Given the description of an element on the screen output the (x, y) to click on. 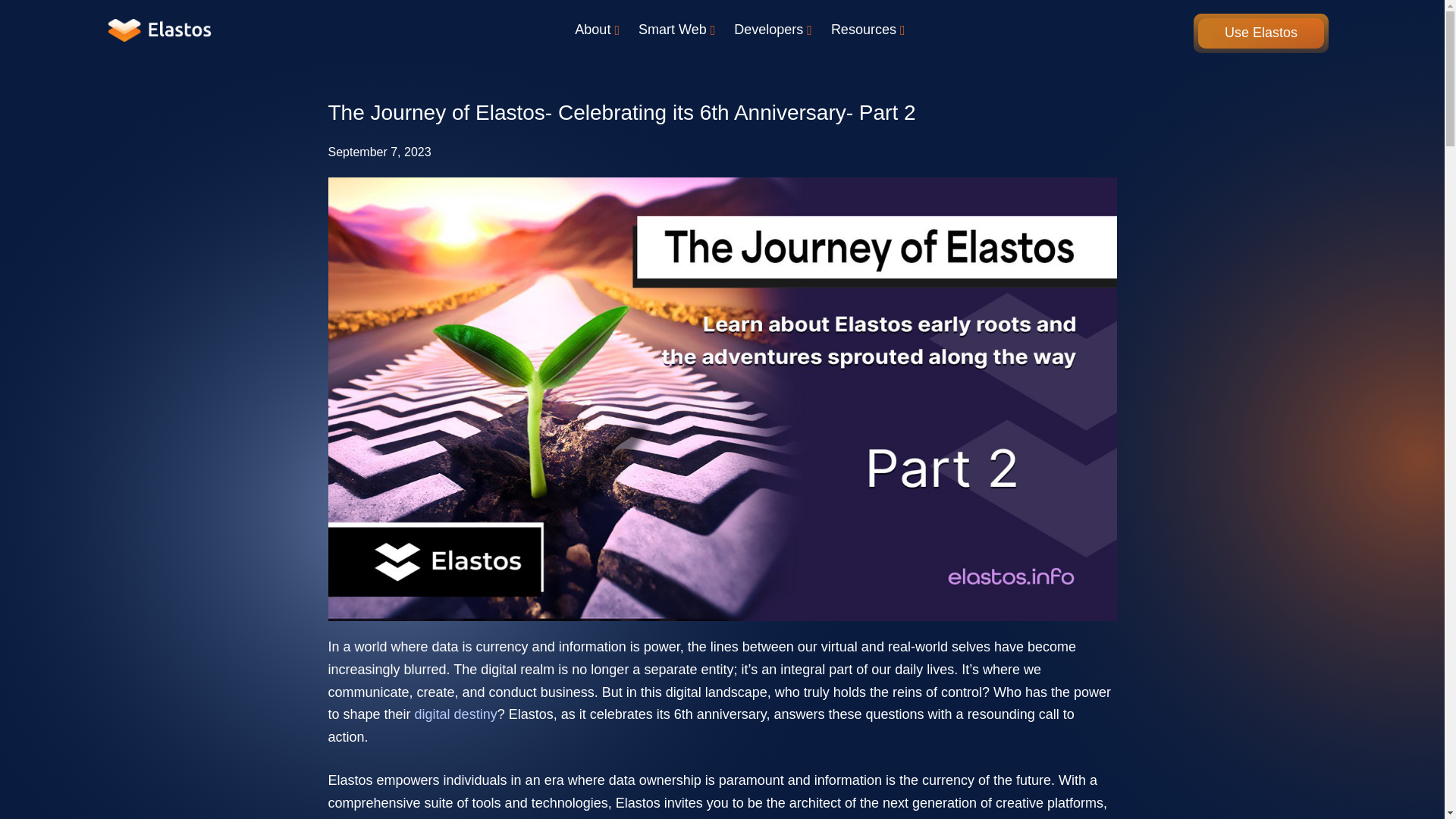
Skip to content (15, 7)
Use Elastos (1260, 33)
Resources (870, 30)
About (598, 30)
Developers (775, 30)
Smart Web (678, 30)
